Given the description of an element on the screen output the (x, y) to click on. 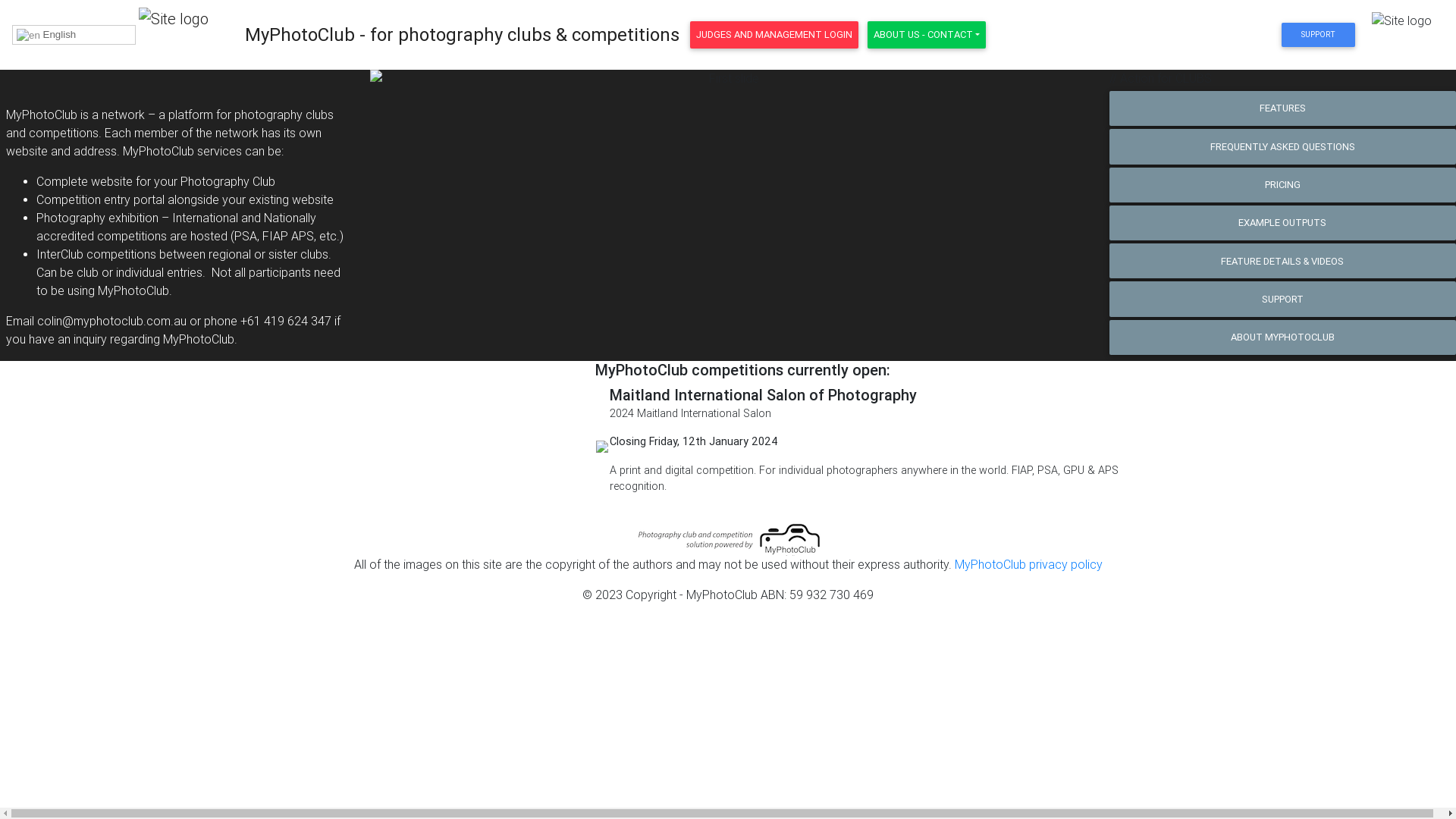
MyPhotoClub - for photography clubs & competitions Element type: text (461, 35)
Next Element type: text (1032, 84)
ABOUT US - CONTACT Element type: text (926, 34)
MyPhotoClub privacy policy Element type: text (1027, 564)
SUPPORT Element type: text (1318, 34)
Maitland International Salon of Photography Element type: text (762, 394)
Previous Element type: text (423, 84)
JUDGES AND MANAGEMENT LOGIN Element type: text (774, 34)
English Element type: text (73, 34)
